Given the description of an element on the screen output the (x, y) to click on. 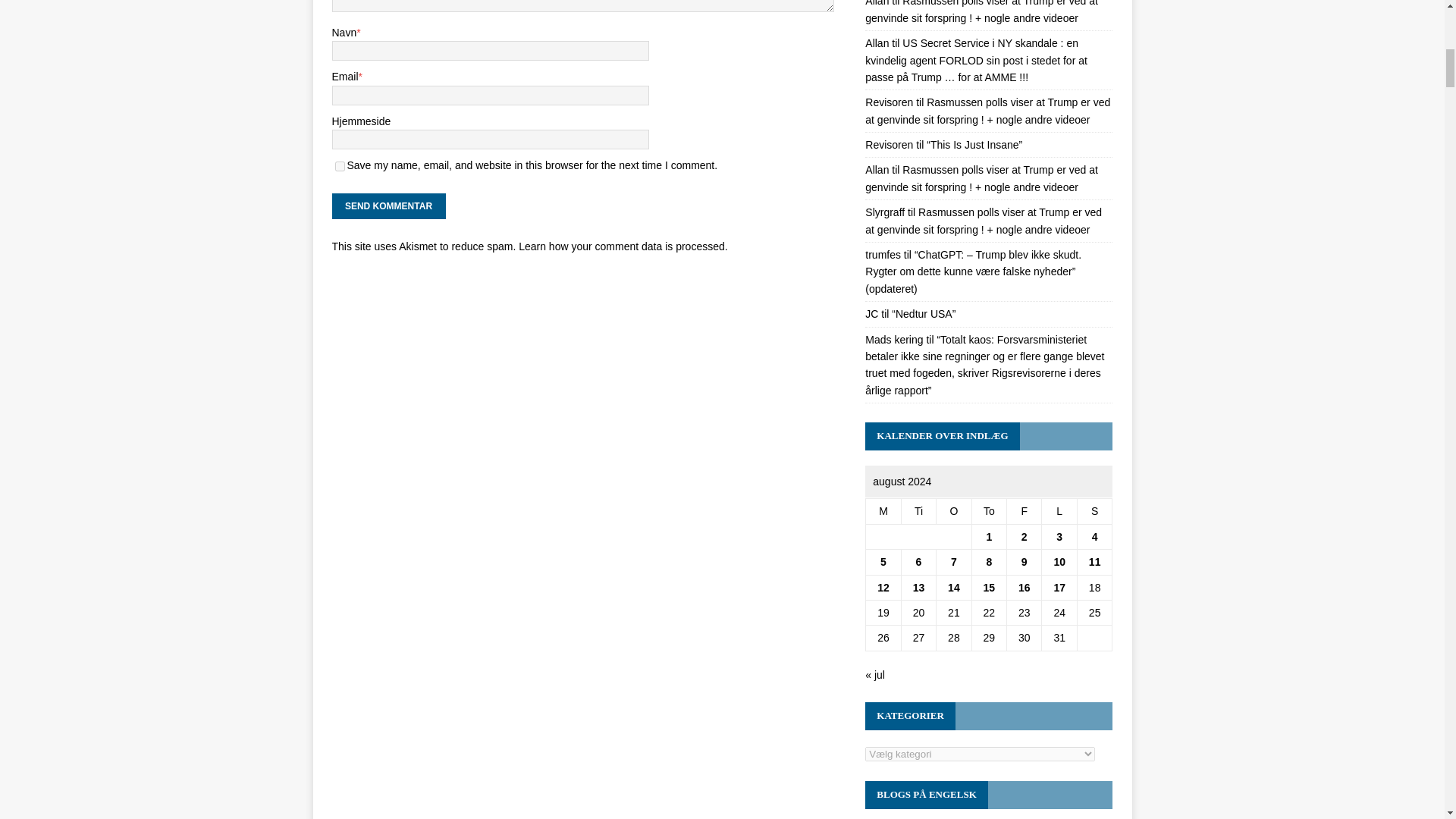
onsdag (953, 511)
tirsdag (918, 511)
Send kommentar (388, 206)
Learn how your comment data is processed (621, 246)
Send kommentar (388, 206)
mandag (883, 511)
fredag (1024, 511)
yes (339, 166)
torsdag (988, 511)
